Given the description of an element on the screen output the (x, y) to click on. 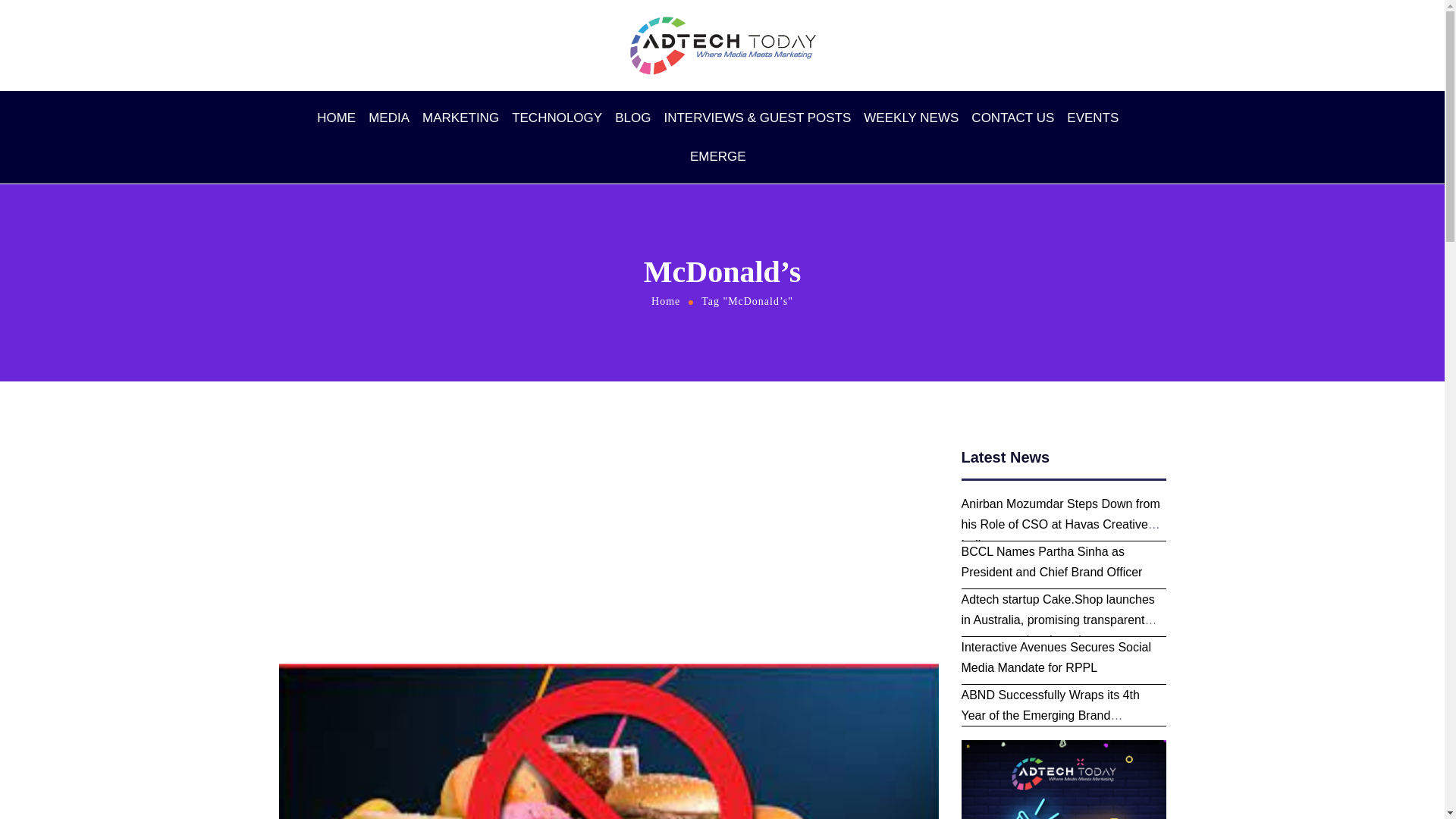
EVENTS (1096, 117)
BCCL Names Partha Sinha as President and Chief Brand Officer (1051, 561)
MEDIA (388, 117)
adtech-today-logo-final (721, 45)
EMERGE (721, 156)
WEEKLY NEWS (910, 117)
BLOG (632, 117)
CONTACT US (1012, 117)
HOME (336, 117)
TECHNOLOGY (557, 117)
Interactive Avenues Secures Social Media Mandate for RPPL (1055, 657)
Home (665, 301)
MARKETING (460, 117)
